Given the description of an element on the screen output the (x, y) to click on. 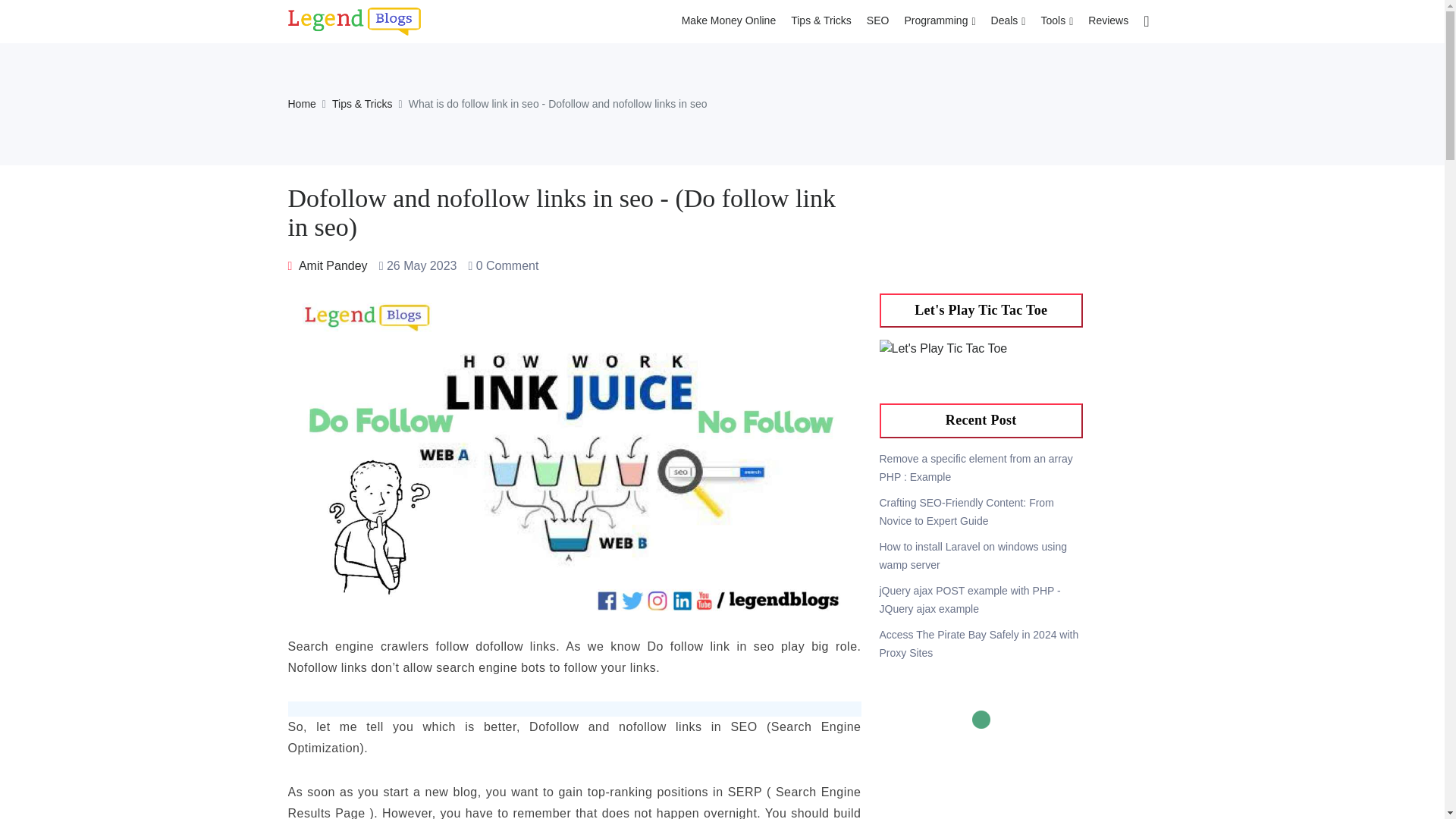
Amit Pandey (328, 265)
Make Money Online (729, 20)
SEO (877, 20)
Tools (1056, 20)
Reviews (1107, 20)
Programming (939, 20)
Deals (1008, 20)
Home (301, 103)
